Given the description of an element on the screen output the (x, y) to click on. 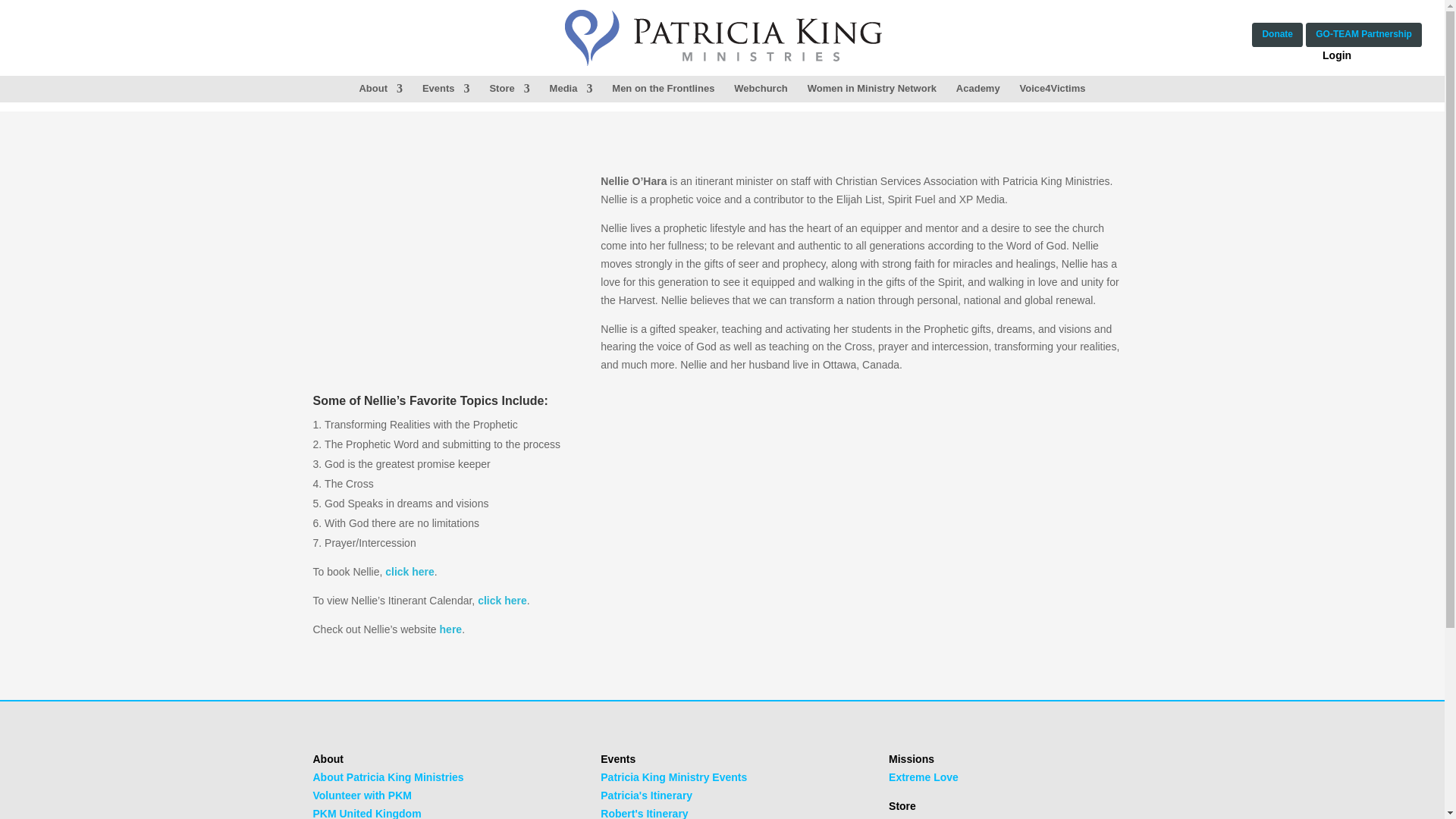
Store (509, 88)
Donate (1277, 34)
About Patricia King Ministries (388, 776)
Volunteer with PKM (361, 795)
Events (446, 88)
Men on the Frontlines (662, 88)
Login (1336, 55)
About (380, 88)
GO-TEAM Partnership (1364, 34)
Webchurch (760, 88)
